Given the description of an element on the screen output the (x, y) to click on. 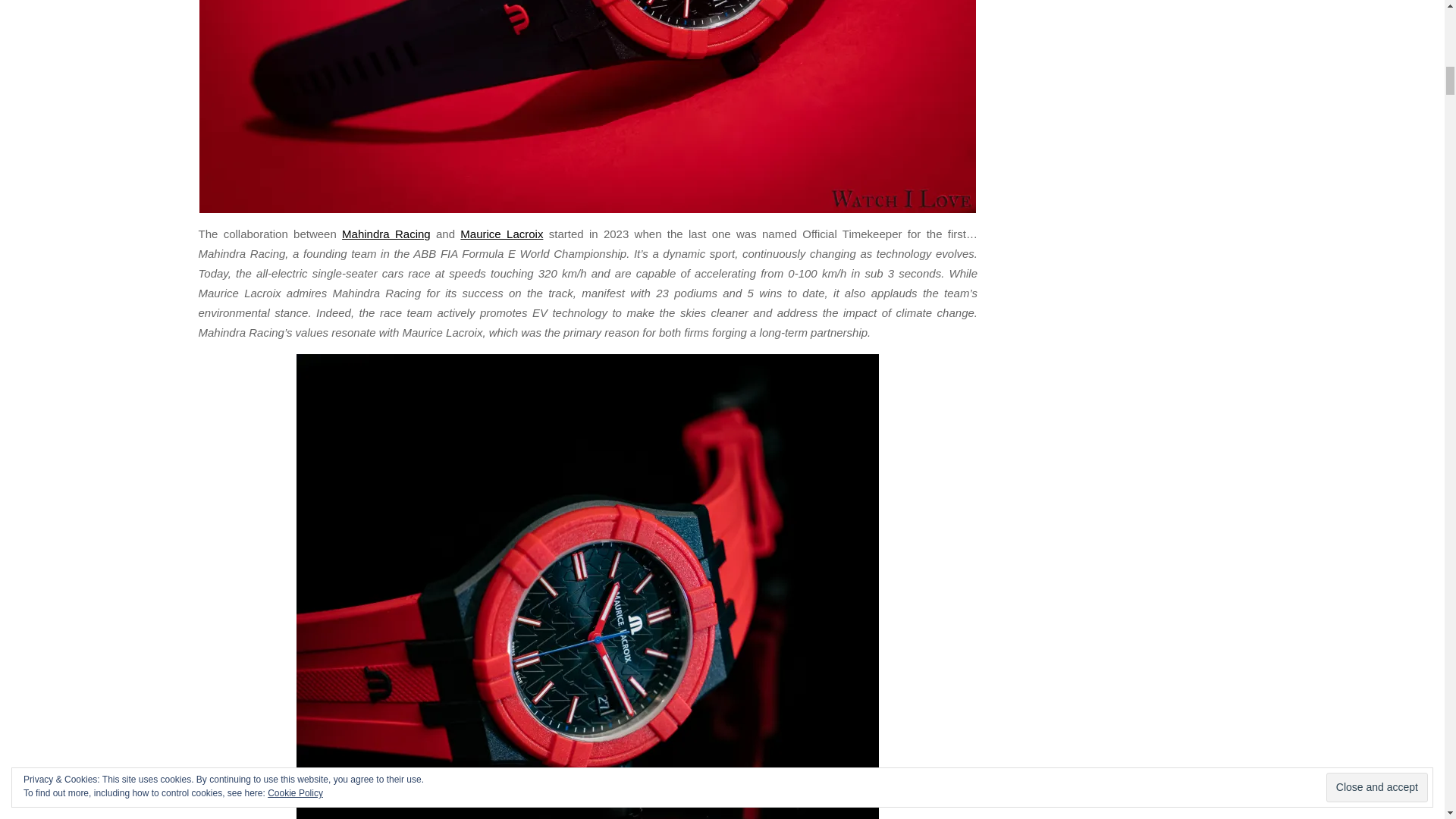
Maurice Lacroix (501, 233)
Mahindra Racing (386, 233)
